Given the description of an element on the screen output the (x, y) to click on. 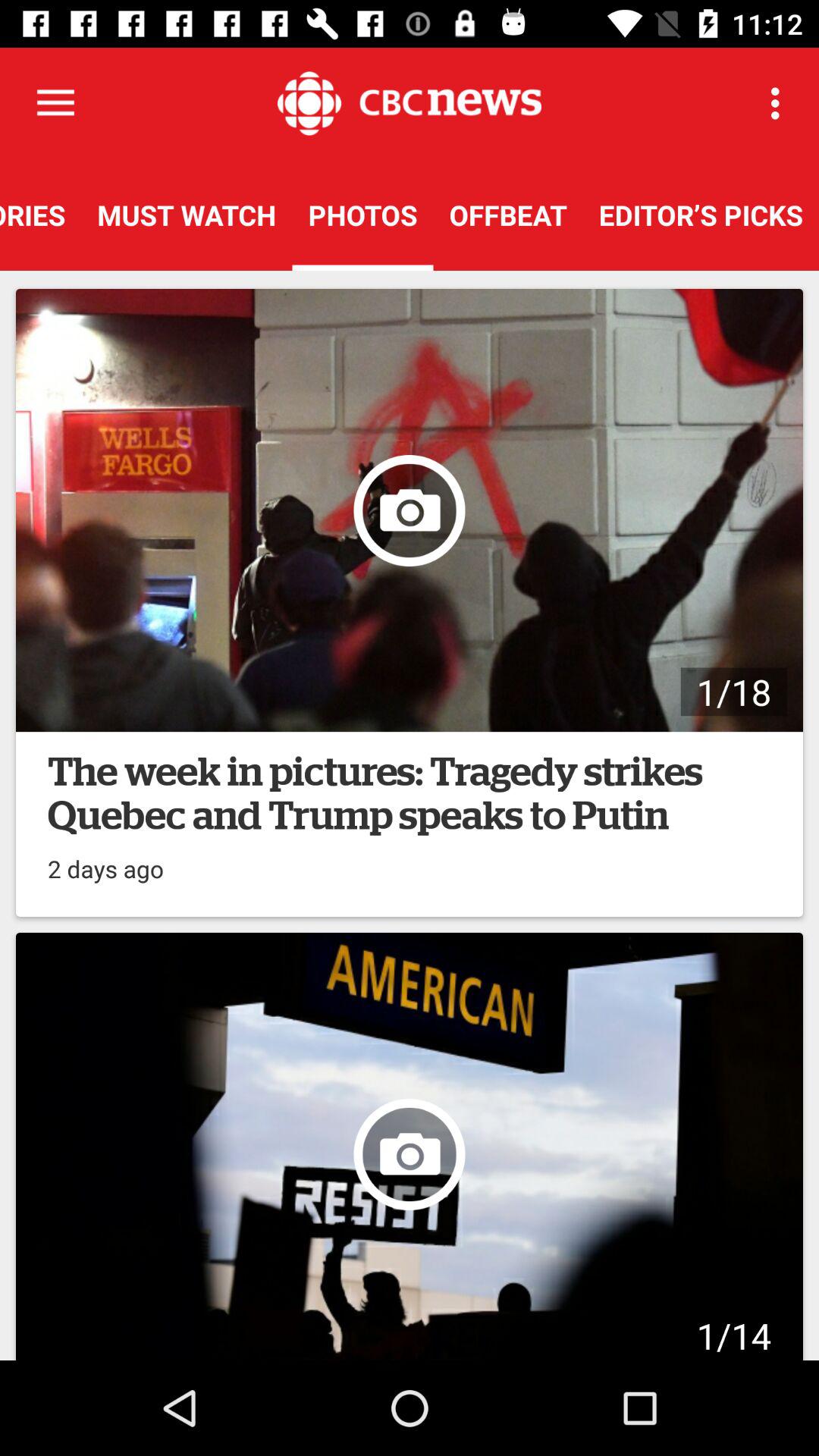
open 2 days ago on the left (105, 860)
